Given the description of an element on the screen output the (x, y) to click on. 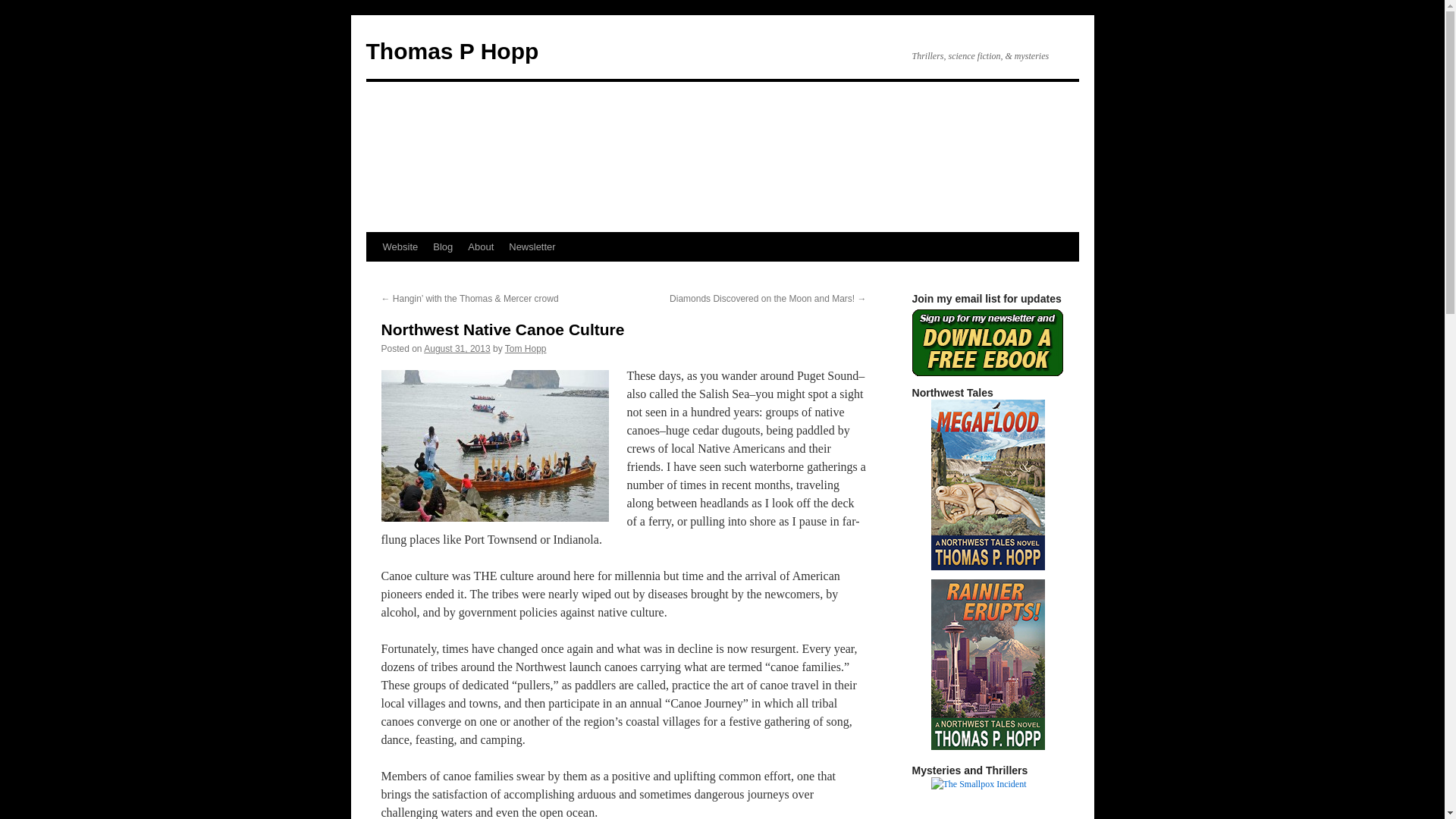
Signup (986, 342)
August 31, 2013 (456, 348)
Tom Hopp (526, 348)
Website (399, 246)
4:50 pm (456, 348)
Thomas P Hopp (451, 50)
View all posts by Tom Hopp (526, 348)
About (480, 246)
Newsletter (531, 246)
SIThumb (988, 798)
